Given the description of an element on the screen output the (x, y) to click on. 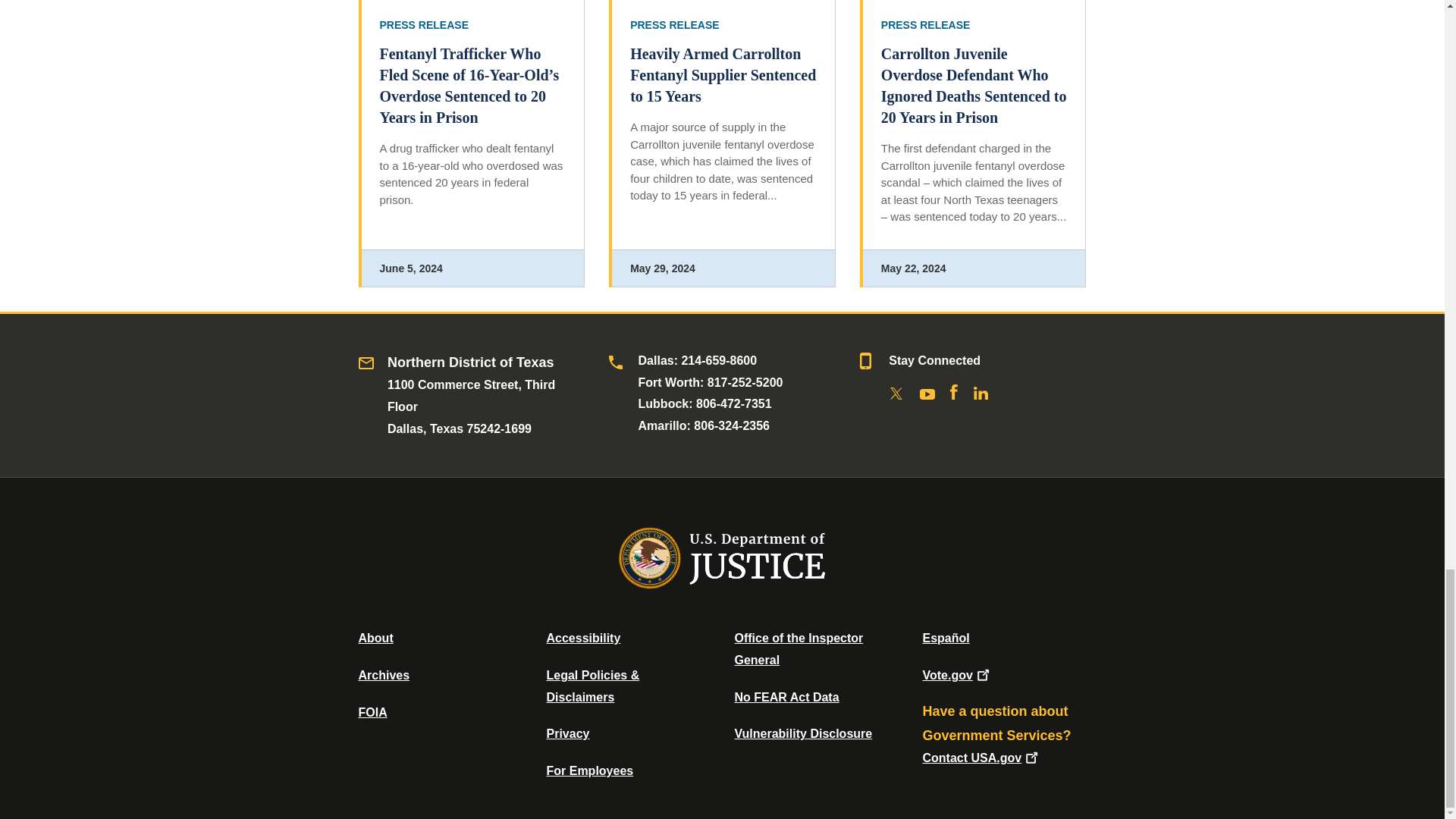
About DOJ (375, 637)
Office of Information Policy (372, 712)
For Employees (589, 770)
Legal Policies and Disclaimers (592, 686)
Accessibility Statement (583, 637)
Department of Justice Archive (383, 675)
Data Posted Pursuant To The No Fear Act (785, 697)
